Given the description of an element on the screen output the (x, y) to click on. 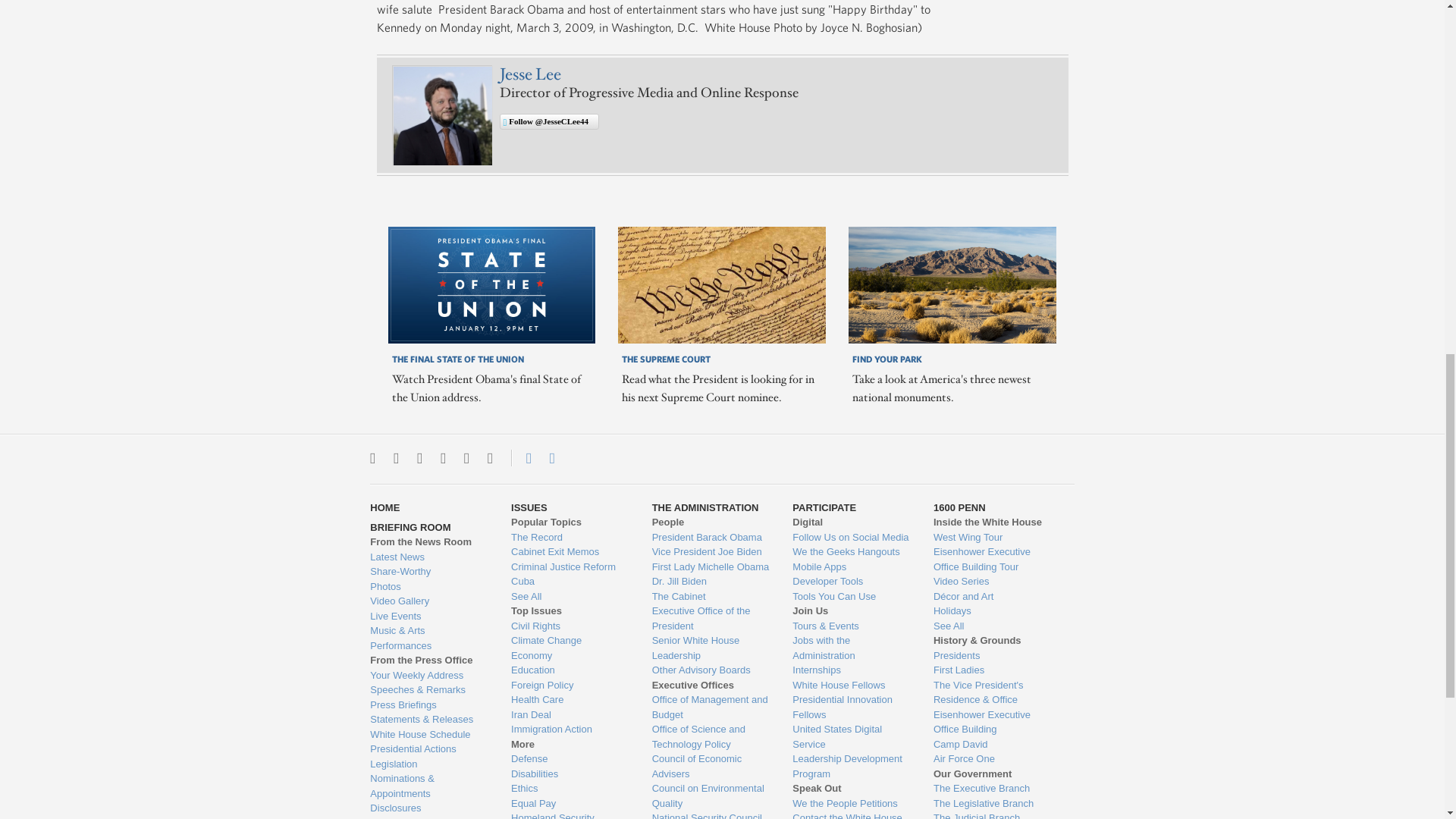
Contact the Whitehouse. (521, 457)
